Given the description of an element on the screen output the (x, y) to click on. 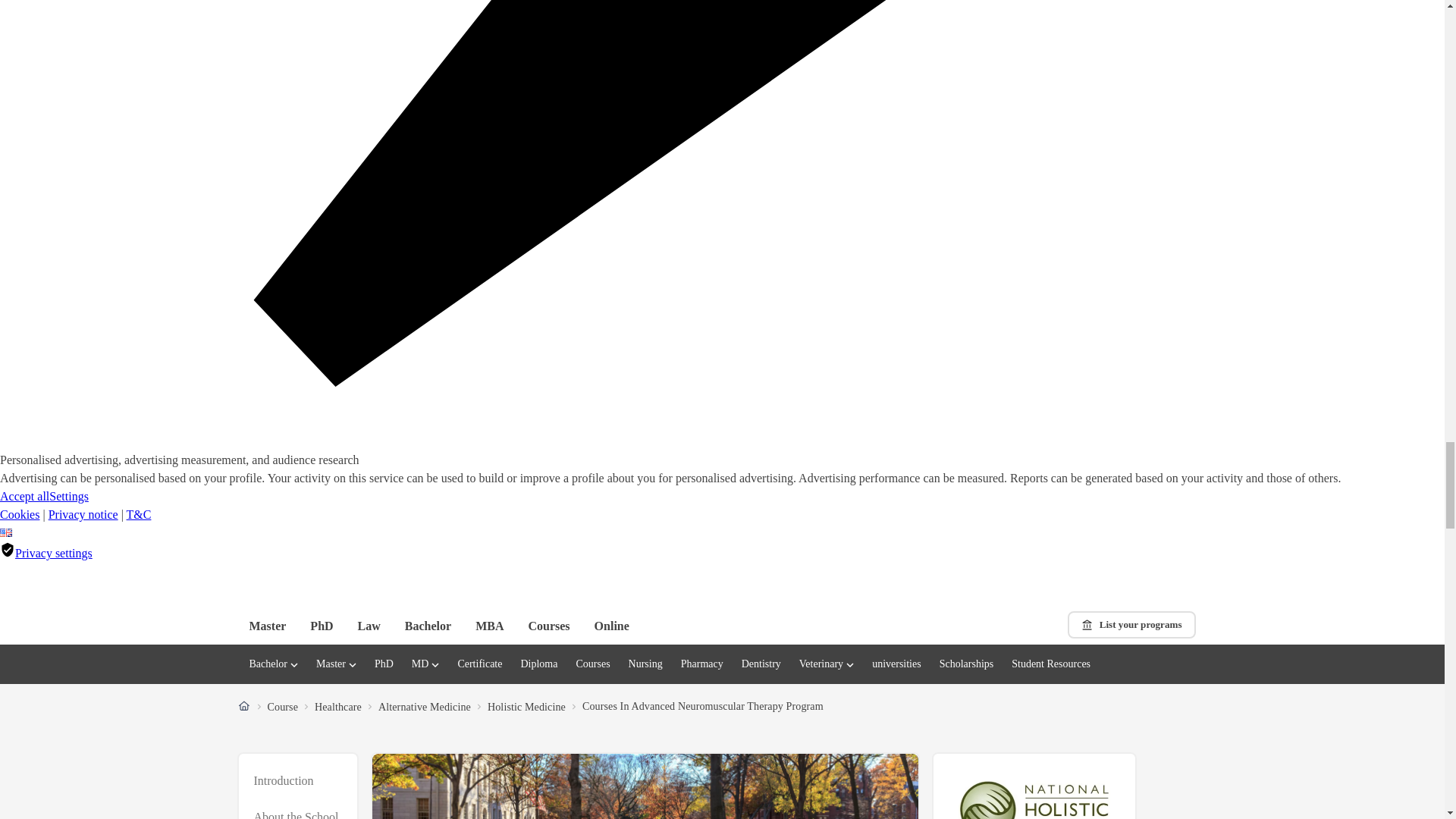
Online (611, 626)
Nursing (645, 663)
0 (1066, 582)
Student Resources (1050, 663)
Courses (548, 626)
Dentistry (760, 663)
Diploma (538, 663)
Courses (592, 663)
0 (296, 785)
Scholarships (1032, 582)
Master (966, 663)
Pharmacy (266, 626)
PhD (702, 663)
